Given the description of an element on the screen output the (x, y) to click on. 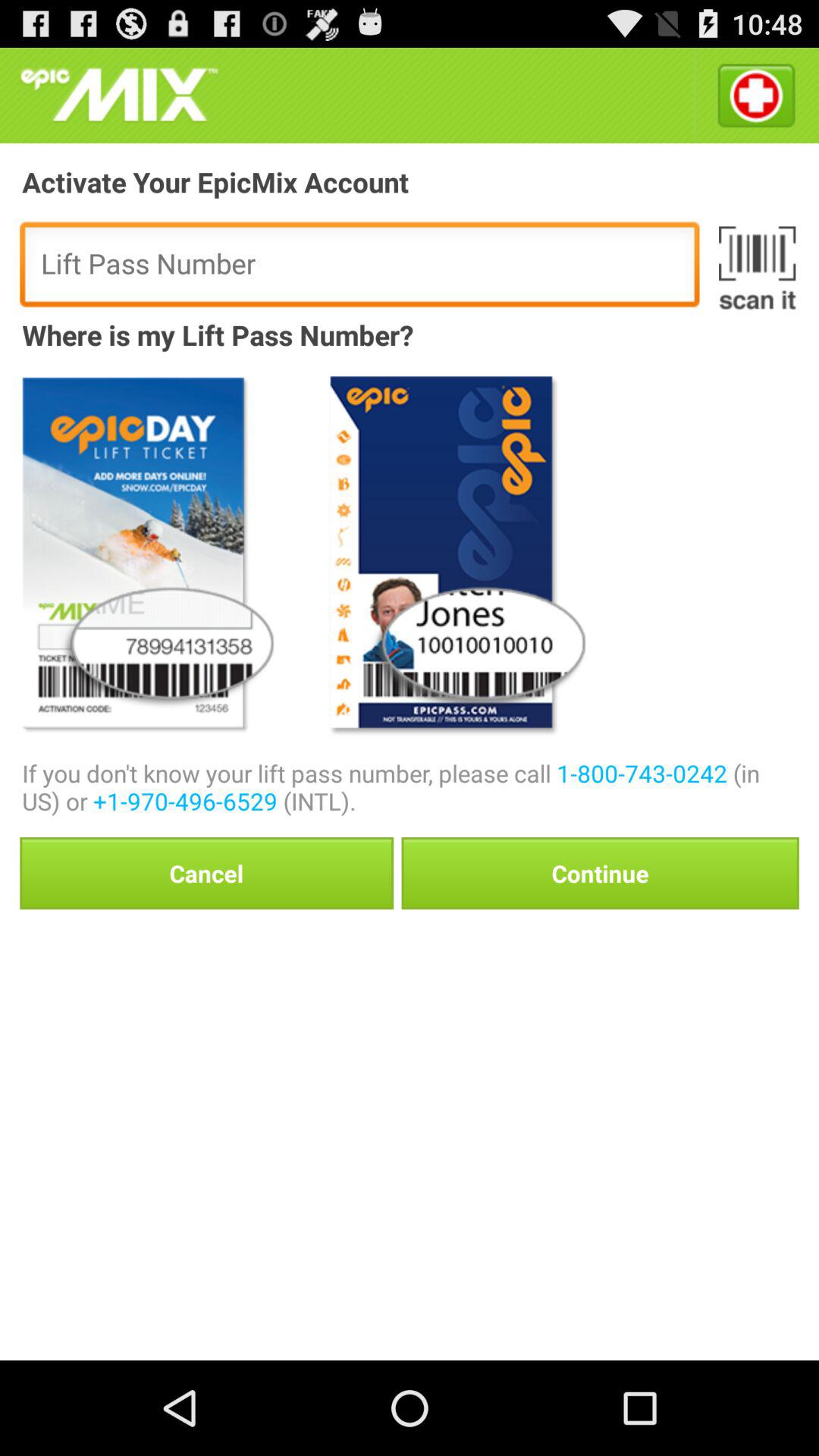
press item above the activate your epicmix item (118, 95)
